Given the description of an element on the screen output the (x, y) to click on. 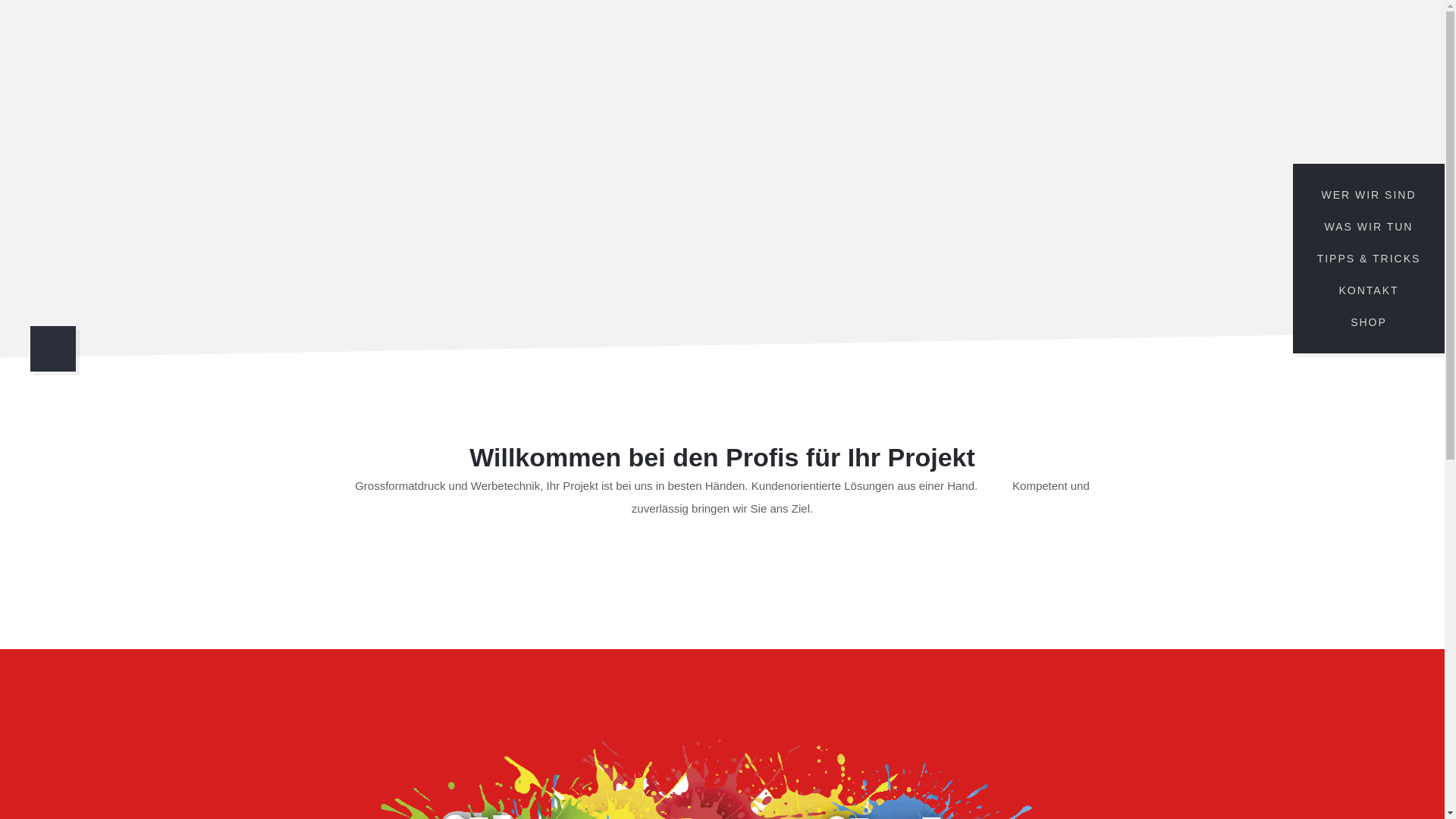
WAS WIR TUN Element type: text (1368, 226)
TIPPS & TRICKS Element type: text (1368, 258)
WER WIR SIND Element type: text (1368, 194)
KONTAKT Element type: text (1368, 290)
SHOP Element type: text (1368, 322)
